Given the description of an element on the screen output the (x, y) to click on. 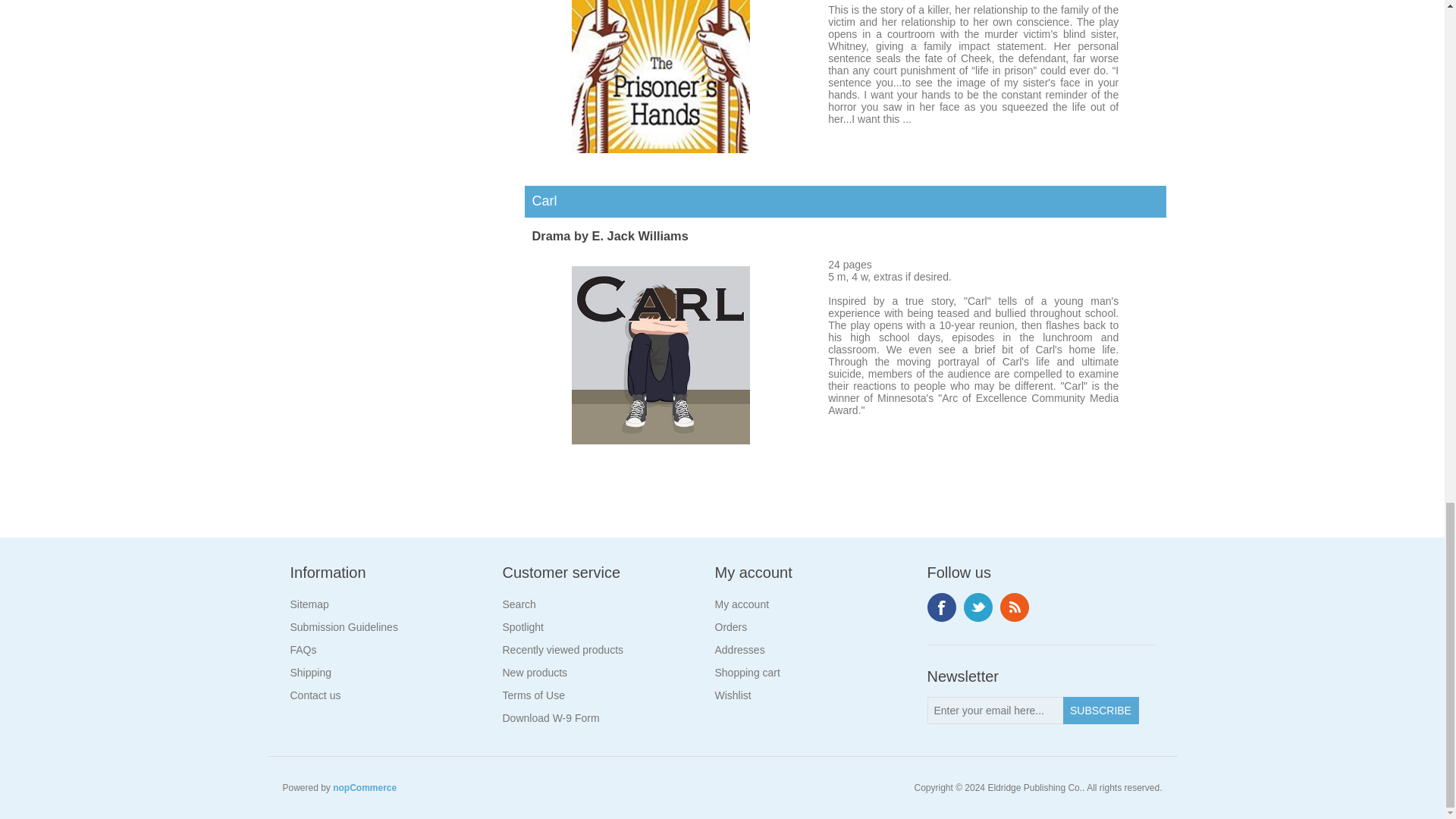
prisoners-hands (660, 149)
prisoners-hands (660, 76)
carl (660, 355)
Subscribe (1100, 709)
carl (660, 440)
